Given the description of an element on the screen output the (x, y) to click on. 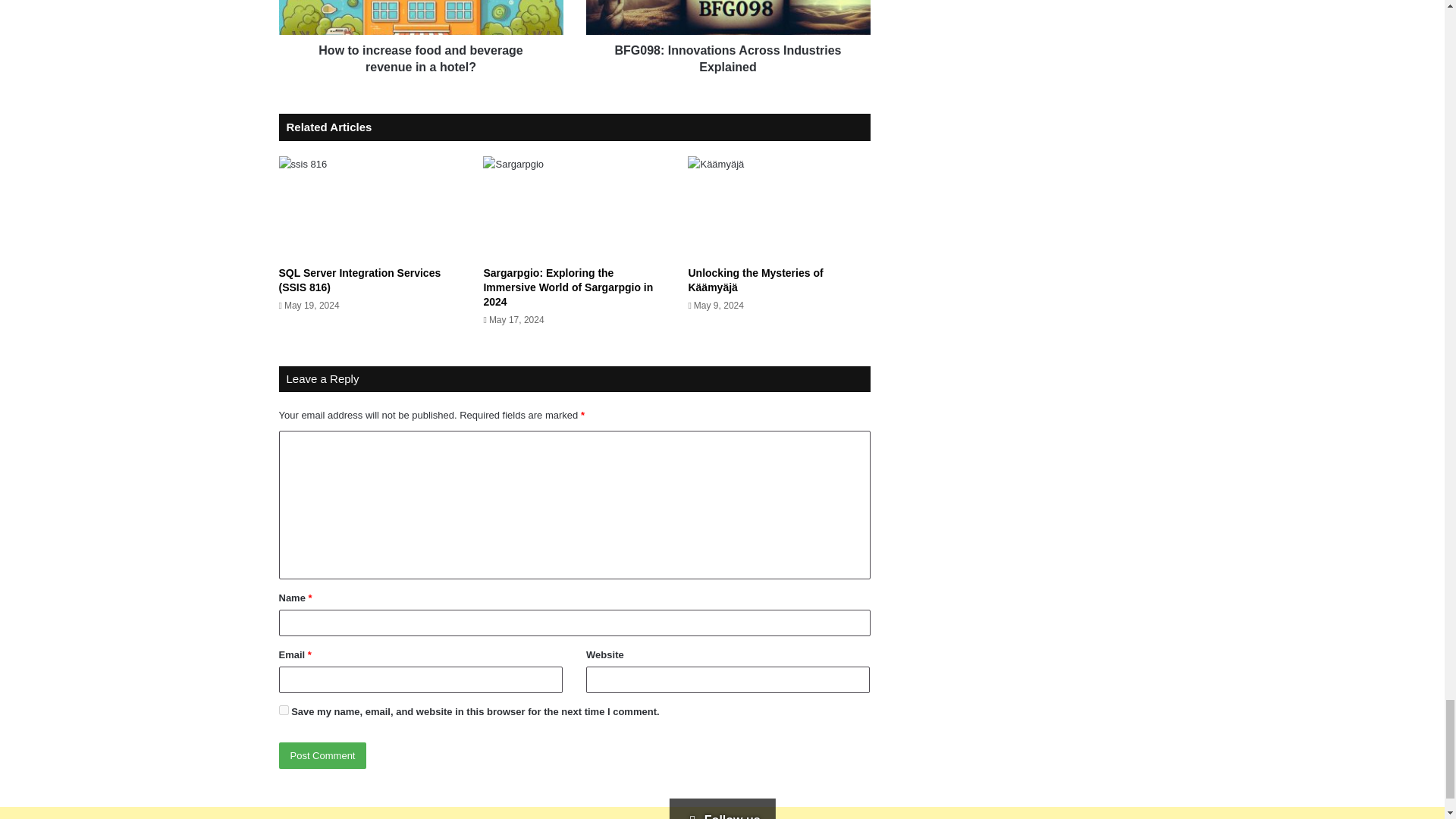
yes (283, 709)
Post Comment (322, 755)
